Given the description of an element on the screen output the (x, y) to click on. 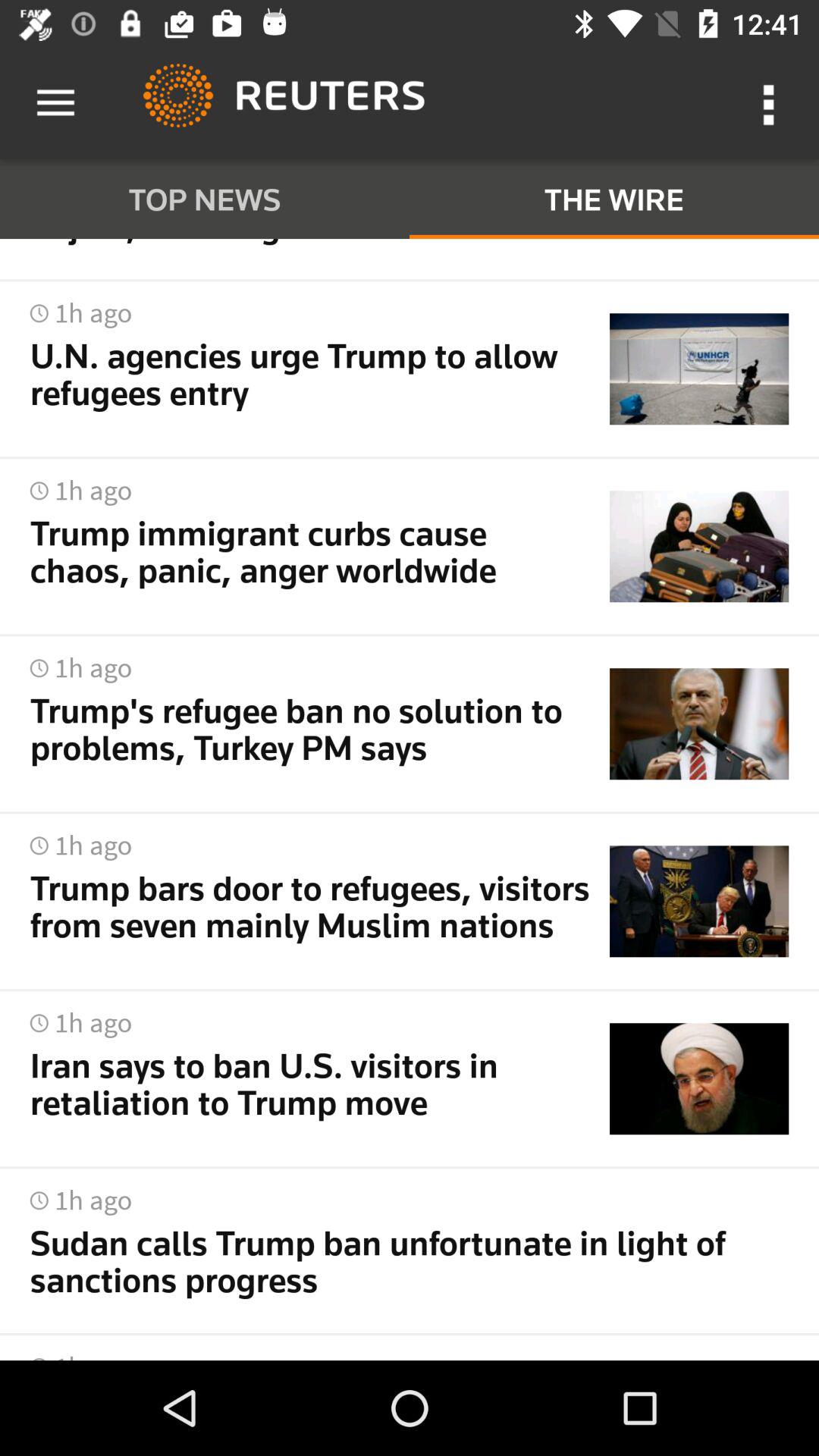
choose icon above the top news (55, 103)
